Given the description of an element on the screen output the (x, y) to click on. 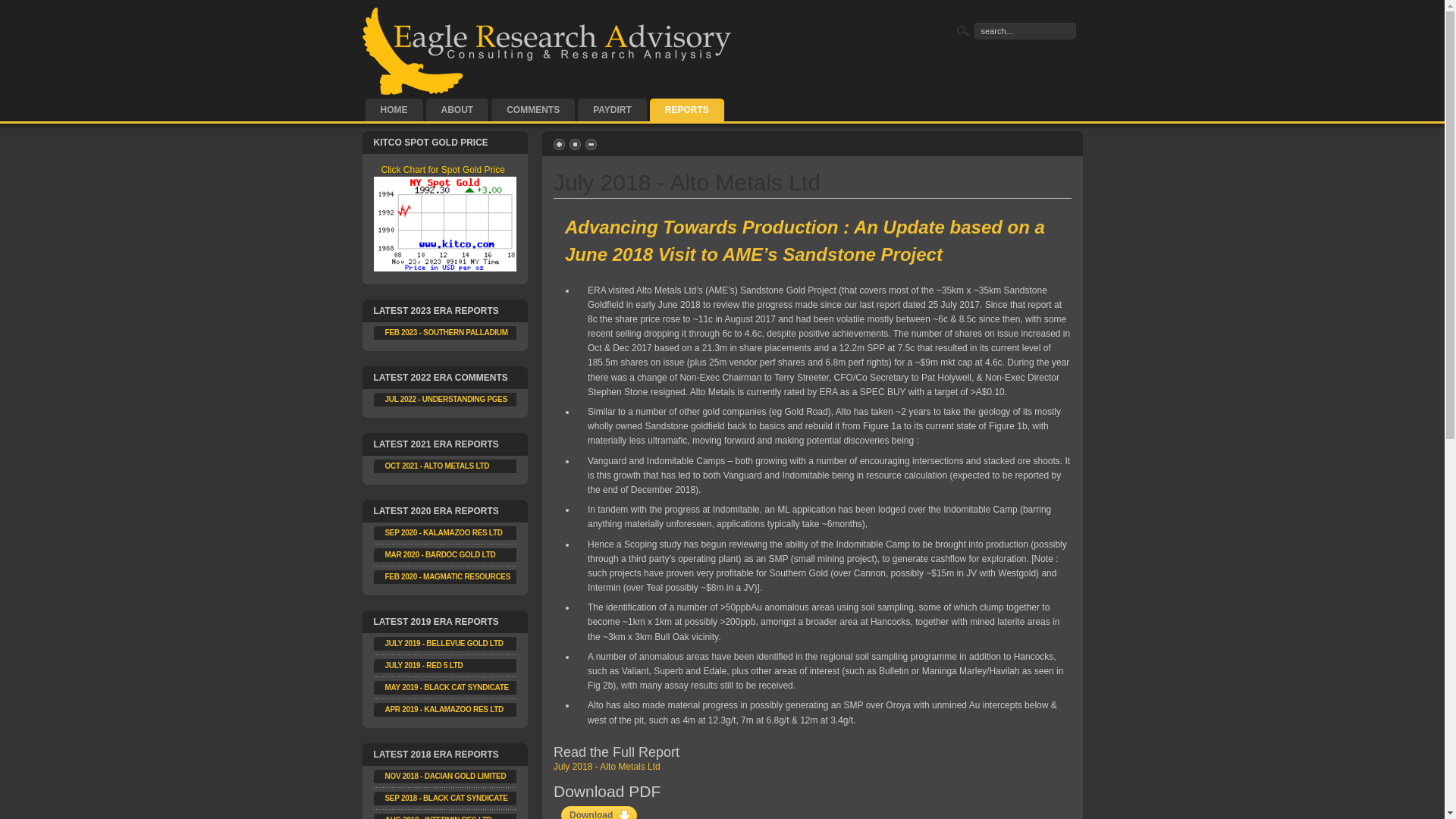
NOV 2018 - DACIAN GOLD LIMITED Element type: text (445, 775)
JULY 2019 - BELLEVUE GOLD LTD Element type: text (444, 643)
HOME Element type: text (394, 109)
ABOUT Element type: text (457, 109)
MAY 2019 - BLACK CAT SYNDICATE Element type: text (446, 687)
Decrease font size Element type: hover (592, 144)
Default font size Element type: hover (576, 144)
FEB 2023 - SOUTHERN PALLADIUM Element type: text (446, 332)
JULY 2019 - RED 5 LTD Element type: text (424, 665)
MAR 2020 - BARDOC GOLD LTD Element type: text (440, 554)
SEP 2020 - KALAMAZOO RES LTD Element type: text (443, 532)
OCT 2021 - ALTO METALS LTD Element type: text (437, 465)
COMMENTS Element type: text (532, 109)
REPORTS Element type: text (686, 109)
Increase font size Element type: hover (560, 144)
APR 2019 - KALAMAZOO RES LTD Element type: text (444, 709)
FEB 2020 - MAGMATIC RESOURCES Element type: text (448, 576)
PAYDIRT Element type: text (611, 109)
July 2018 - Alto Metals Ltd Element type: text (606, 766)
JUL 2022 - UNDERSTANDING PGES Element type: text (446, 399)
Eagle Research Advisory Element type: hover (548, 51)
SEP 2018 - BLACK CAT SYNDICATE Element type: text (446, 797)
